Given the description of an element on the screen output the (x, y) to click on. 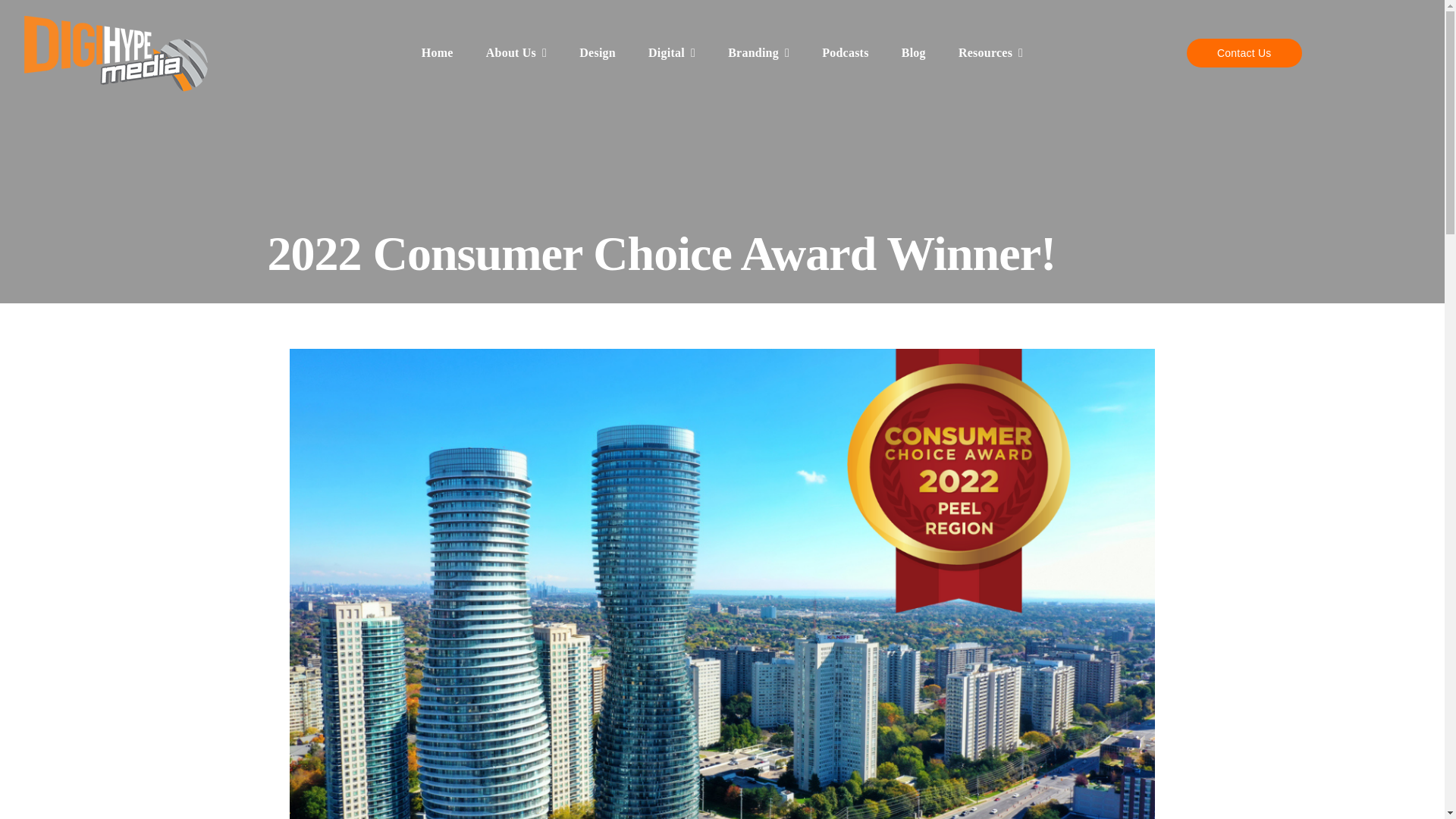
Resources (990, 52)
DigiHype-Media-logo-white (117, 52)
Branding (758, 52)
About Us (516, 52)
Digital (671, 52)
Podcasts (844, 52)
